Given the description of an element on the screen output the (x, y) to click on. 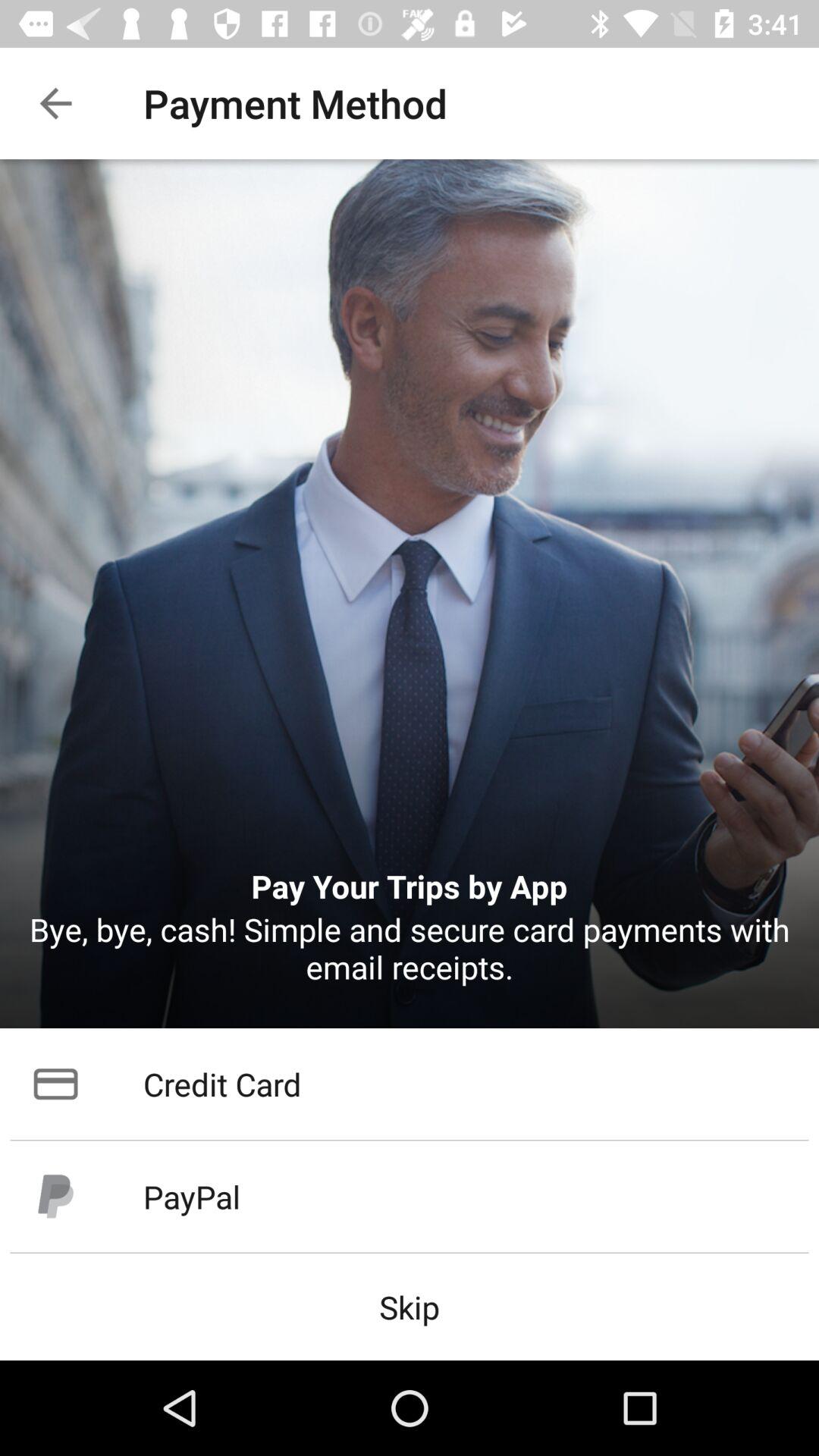
launch the item next to the payment method item (55, 103)
